Given the description of an element on the screen output the (x, y) to click on. 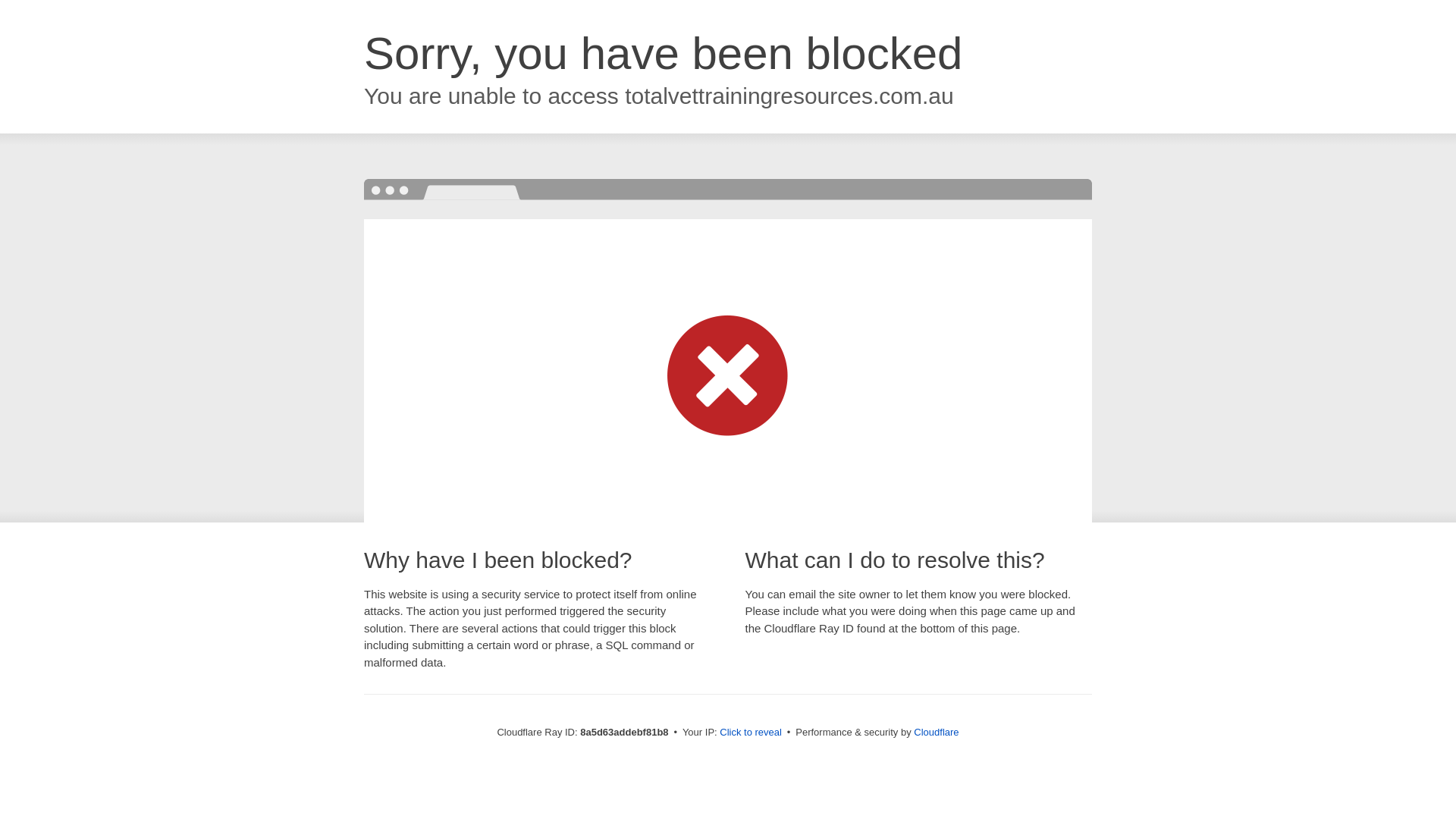
Cloudflare (936, 731)
Click to reveal (750, 732)
